Given the description of an element on the screen output the (x, y) to click on. 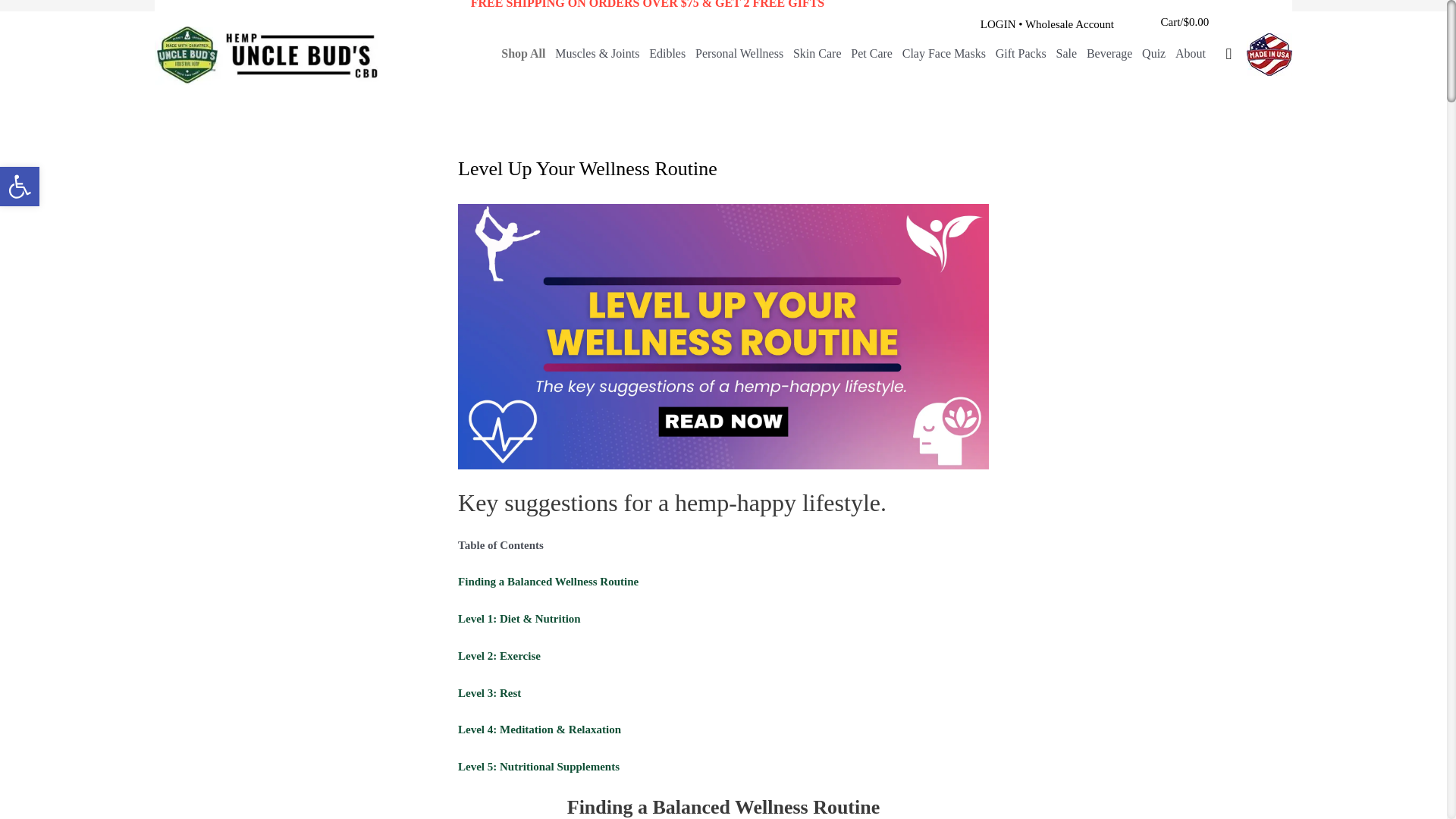
Wholesale Account (1069, 24)
Personal Wellness (739, 53)
Skin Care (817, 53)
Accessibility Tools (19, 186)
LOGIN (997, 24)
Shop All (523, 53)
Edibles (19, 186)
Accessibility Tools (667, 53)
